Given the description of an element on the screen output the (x, y) to click on. 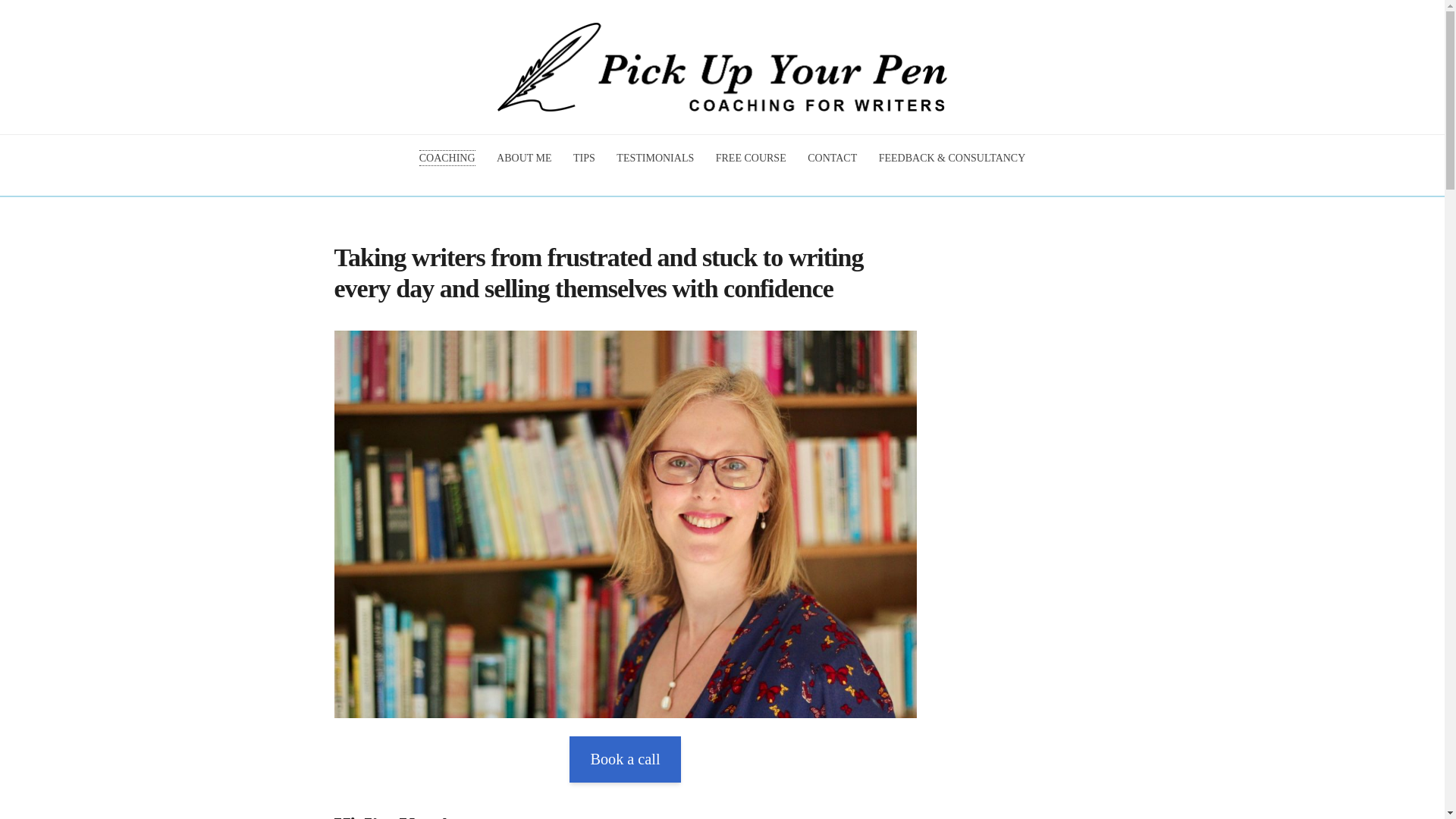
FREE COURSE (751, 157)
TIPS (584, 157)
CONTACT (832, 157)
COACHING (447, 157)
Book a call (624, 759)
TESTIMONIALS (654, 157)
ABOUT ME (523, 157)
